Given the description of an element on the screen output the (x, y) to click on. 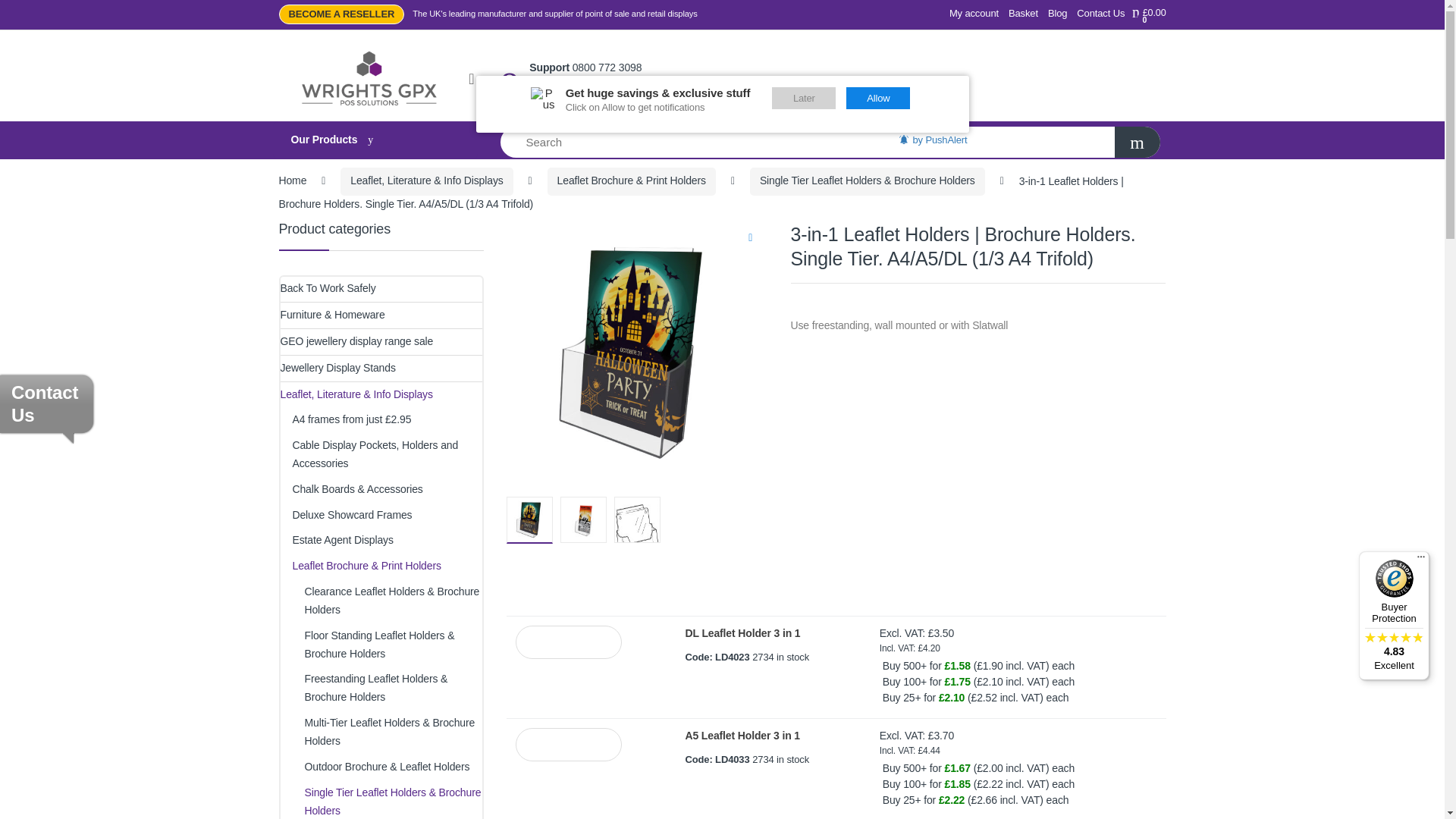
Skip to content (34, 9)
Basket (1023, 13)
Contact Us (1100, 13)
My account (973, 13)
Contact Us (1100, 13)
Basket (1023, 13)
Become A Reseller (341, 14)
BECOME A RESELLER (341, 14)
Skip to navigation (40, 9)
Blog (1057, 13)
My account (973, 13)
Blog (1057, 13)
